Given the description of an element on the screen output the (x, y) to click on. 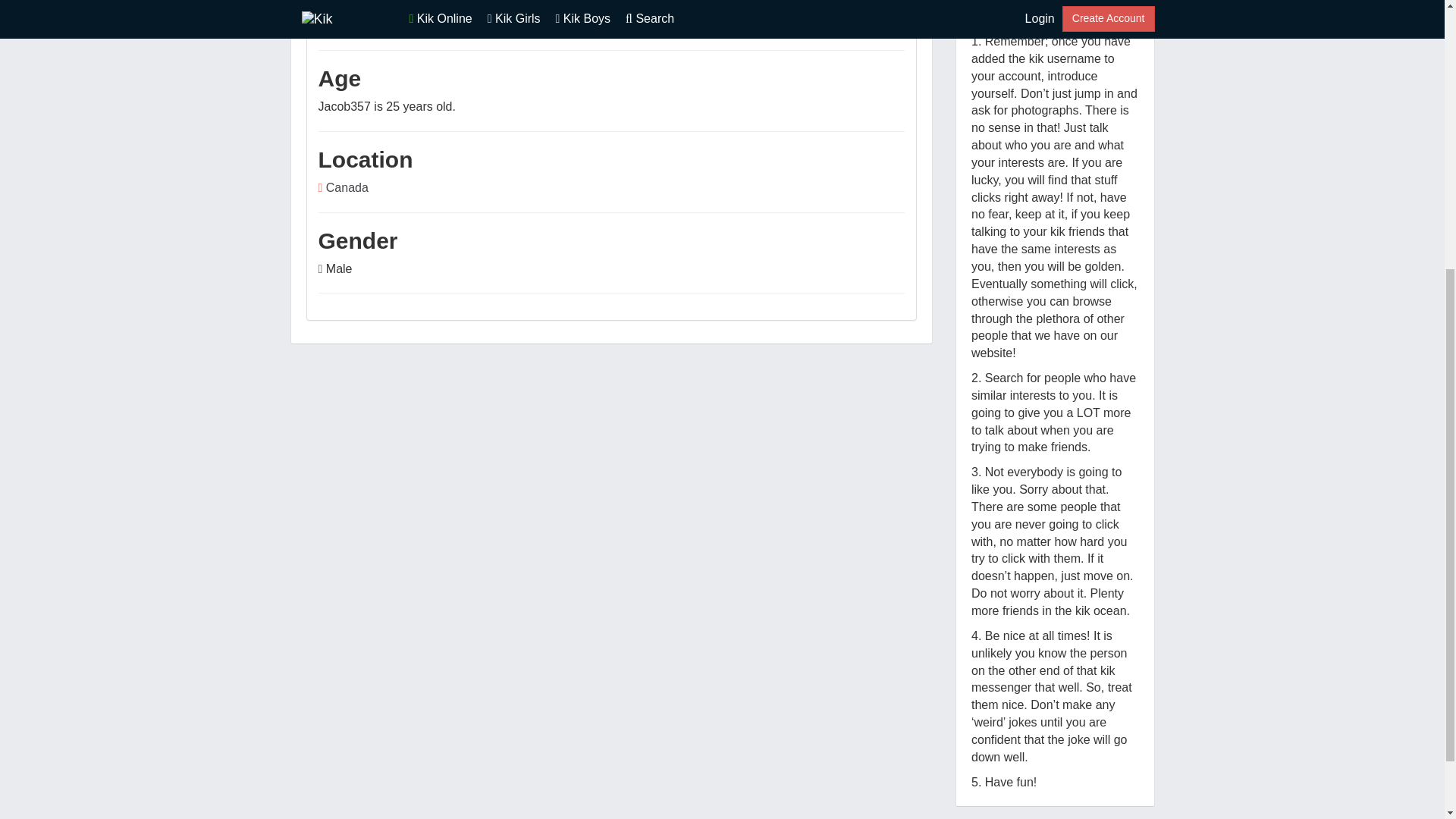
Canada (347, 187)
